Given the description of an element on the screen output the (x, y) to click on. 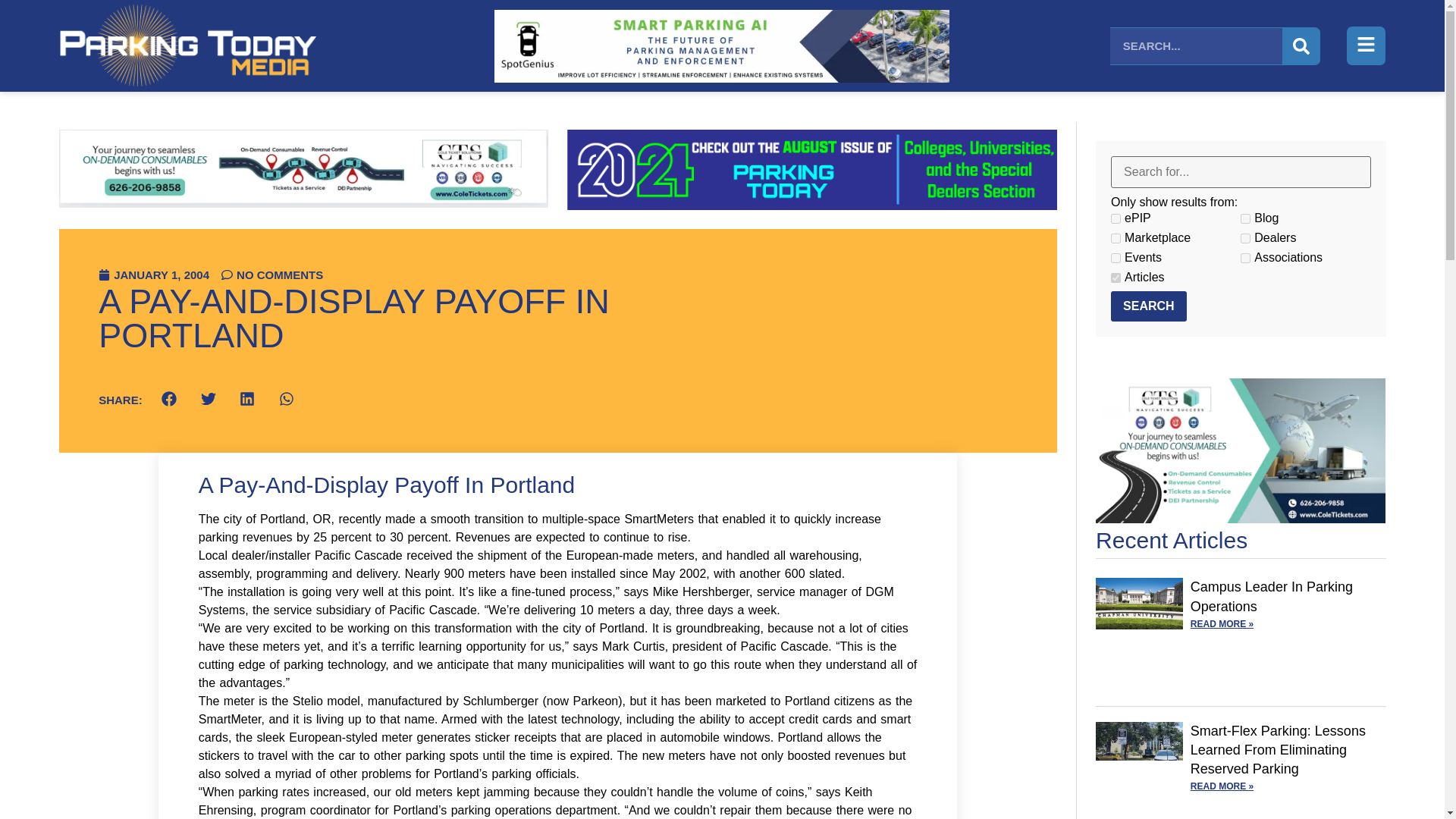
Search (1148, 306)
Blog (1245, 218)
Marketplace (1115, 238)
Search (1148, 306)
Articles (1115, 277)
ePIP (1115, 218)
NO COMMENTS (272, 274)
Campus Leader In Parking Operations (1271, 596)
Events (1115, 257)
